Given the description of an element on the screen output the (x, y) to click on. 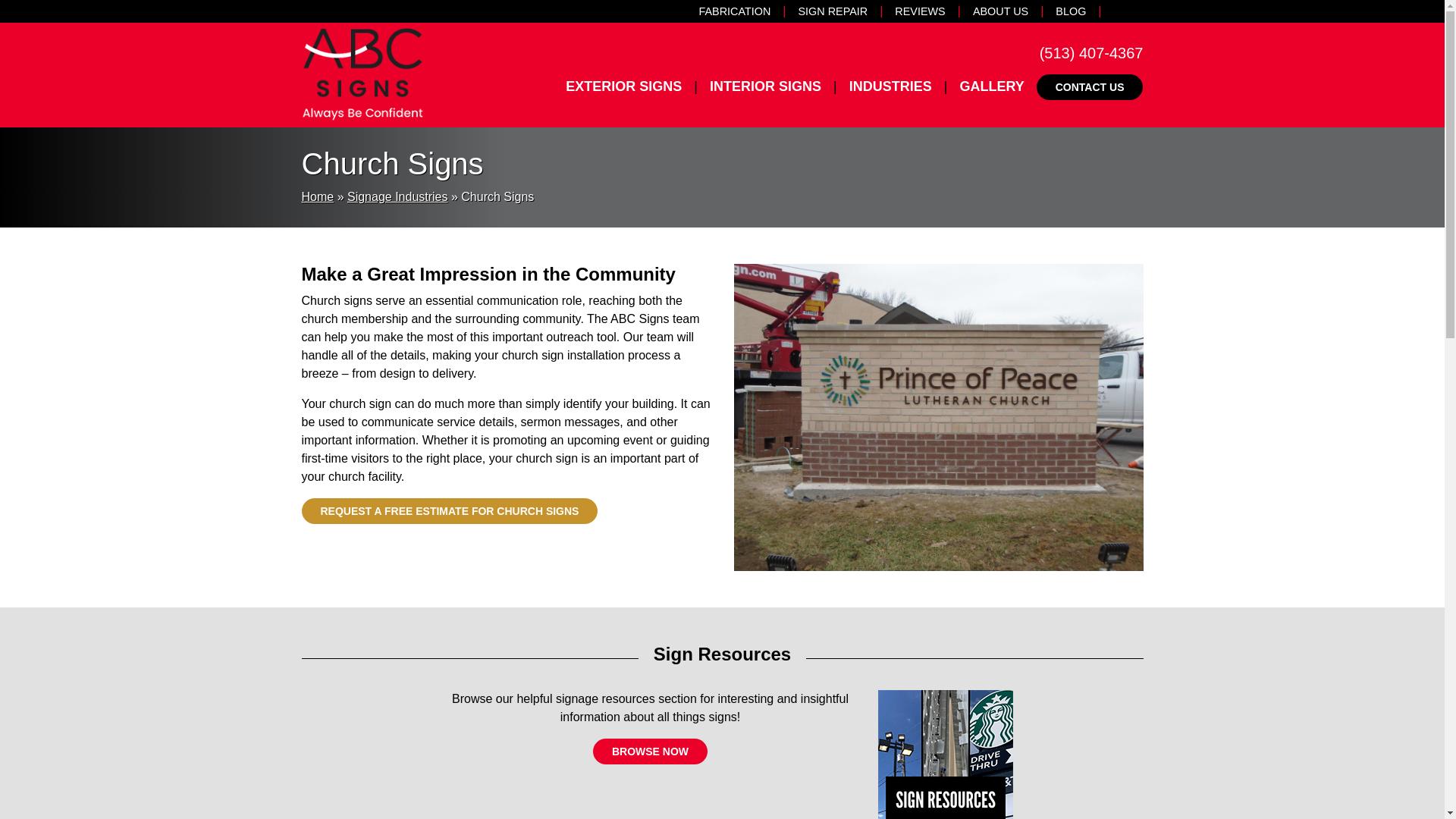
Home (317, 196)
ABOUT US (1006, 10)
FABRICATION (740, 10)
CONTACT US (1089, 86)
GALLERY (991, 86)
EXTERIOR SIGNS (625, 86)
INTERIOR SIGNS (767, 86)
Signage Industries (397, 196)
REVIEWS (925, 10)
BLOG (1076, 10)
INDUSTRIES (892, 86)
SIGN REPAIR (838, 10)
